Given the description of an element on the screen output the (x, y) to click on. 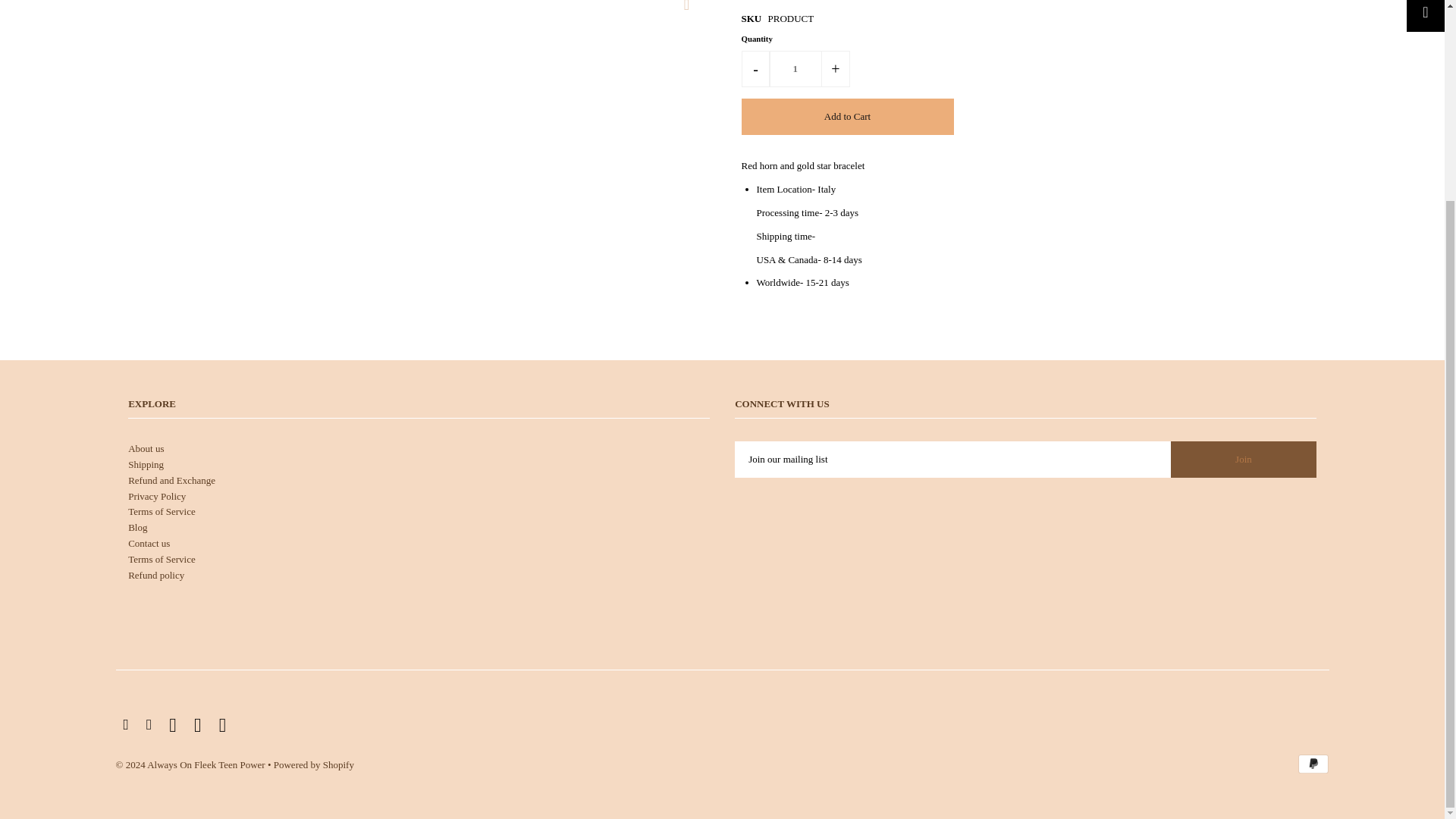
Join (1243, 459)
Add to Cart (847, 116)
PayPal (1312, 763)
1 (795, 68)
